Given the description of an element on the screen output the (x, y) to click on. 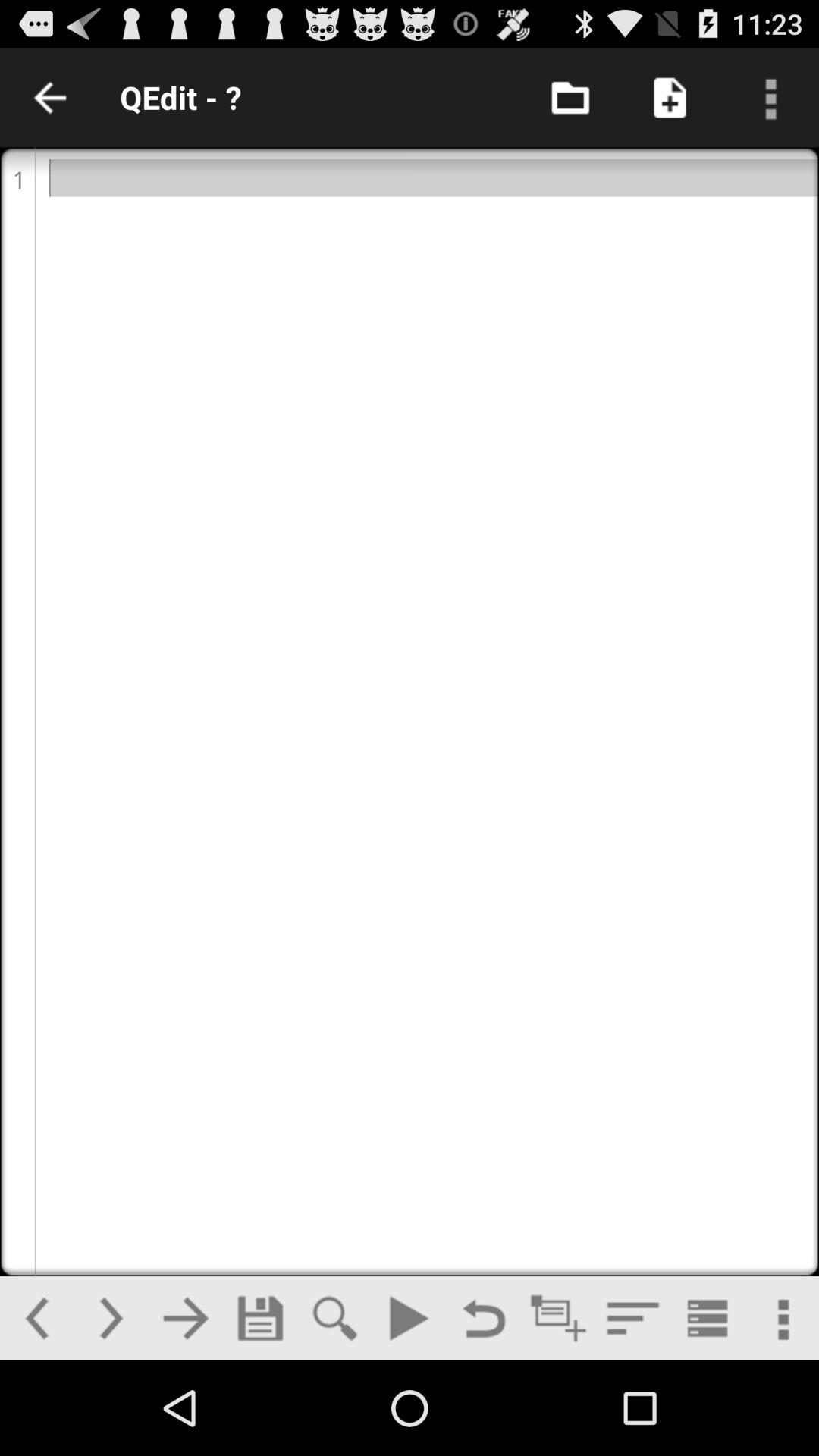
toggle menu option (632, 1318)
